Given the description of an element on the screen output the (x, y) to click on. 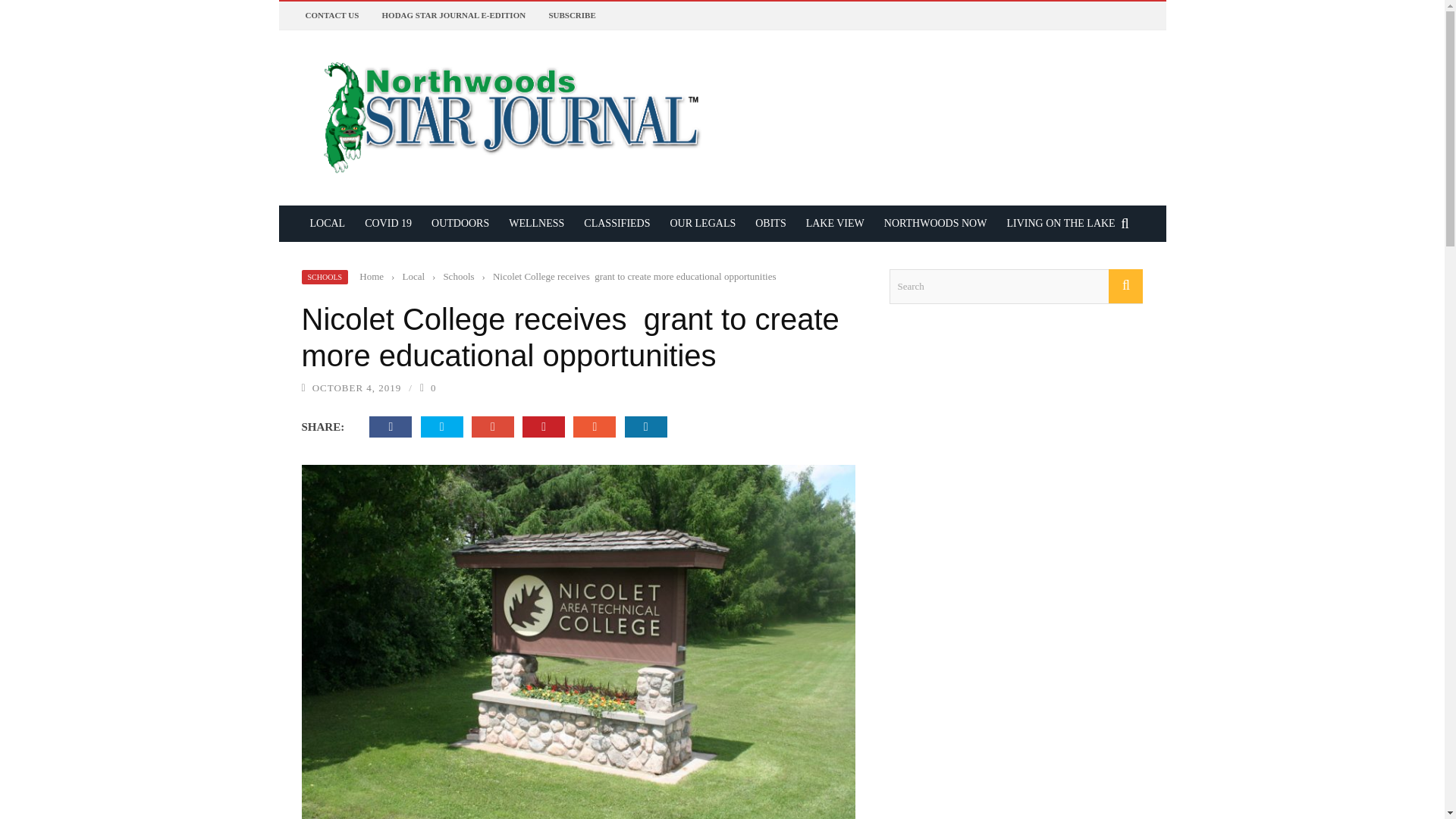
HODAG STAR JOURNAL E-EDITION (453, 14)
SUBSCRIBE (571, 14)
Search (1015, 286)
LOCAL (327, 223)
CONTACT US (331, 14)
